Given the description of an element on the screen output the (x, y) to click on. 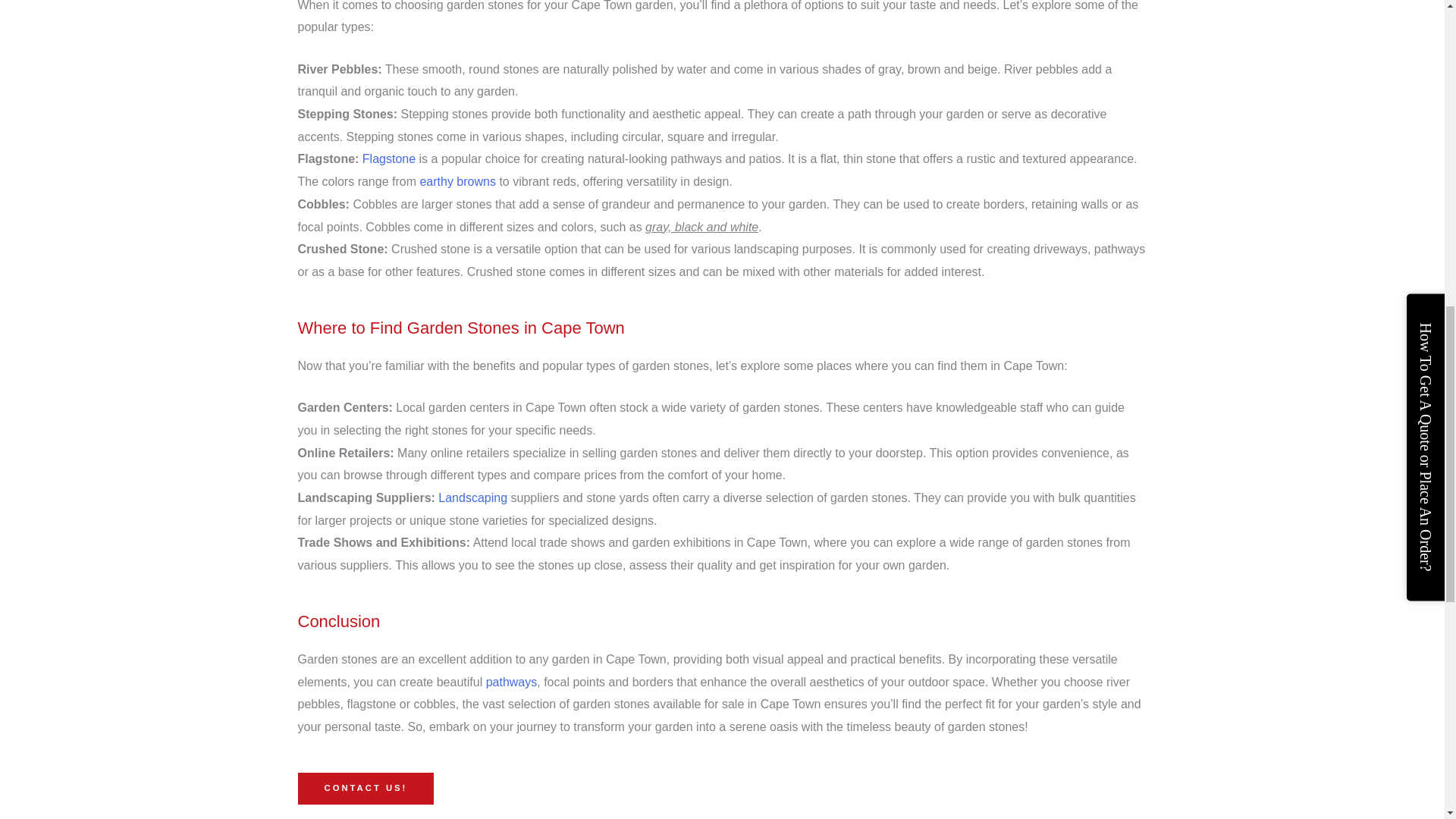
pathways (511, 681)
earthy browns (457, 181)
CONTACT US! (365, 788)
Flagstone (388, 158)
Landscaping (472, 497)
